Given the description of an element on the screen output the (x, y) to click on. 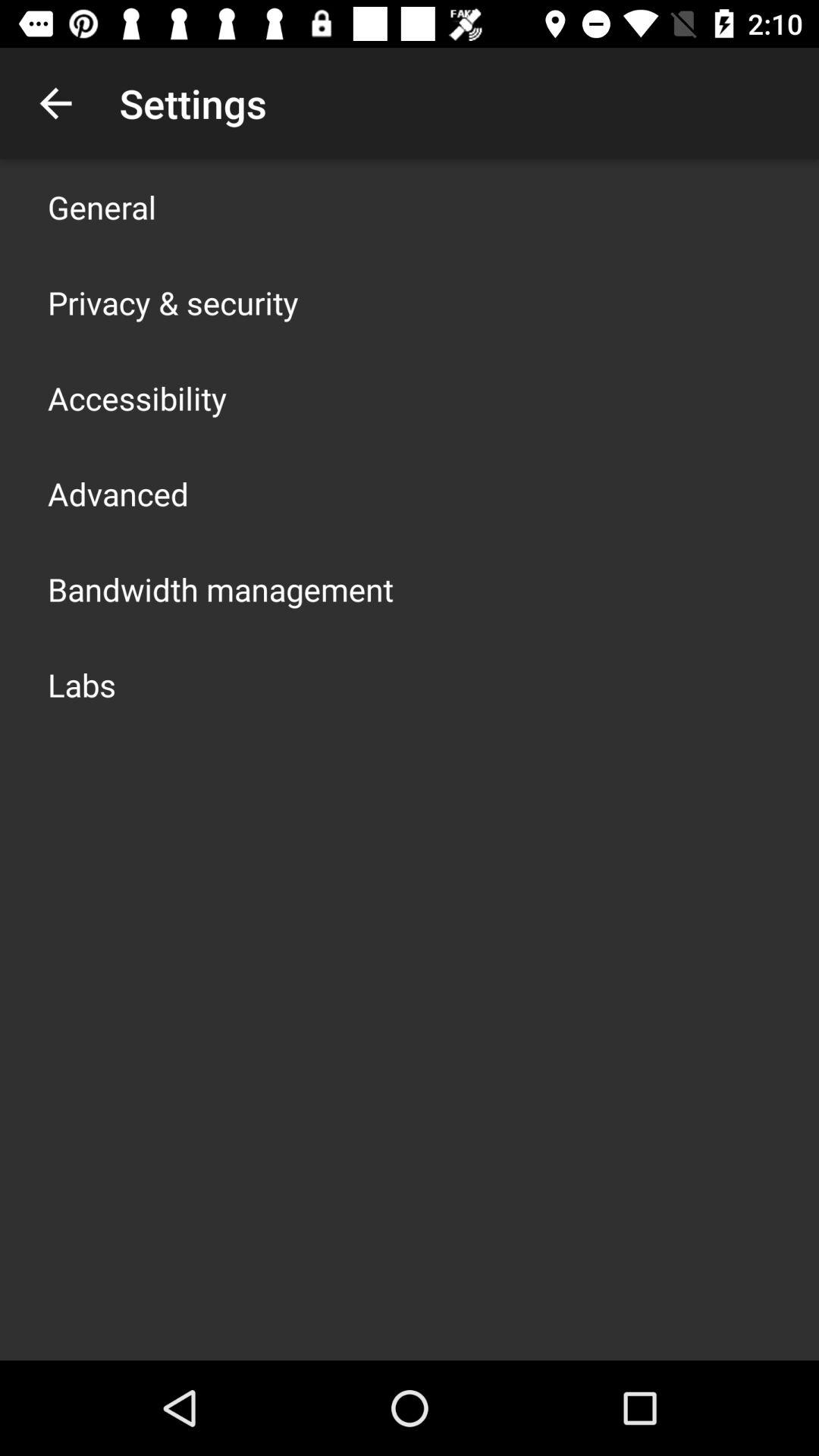
jump to general item (101, 206)
